Given the description of an element on the screen output the (x, y) to click on. 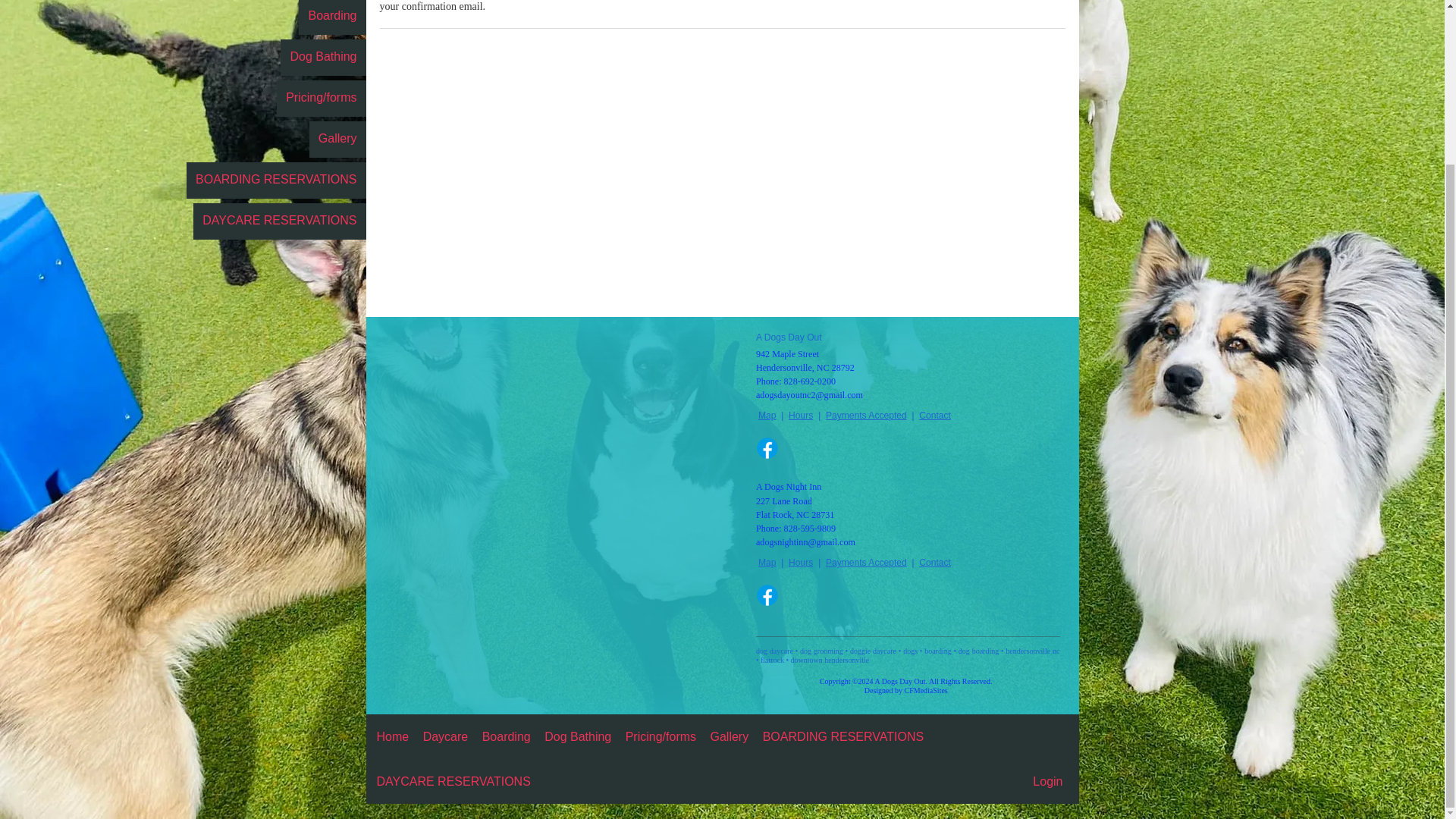
Gallery (337, 139)
Daycare (445, 736)
Dog Bathing (577, 736)
BOARDING RESERVATIONS (842, 736)
Payments Accepted (866, 415)
Map (766, 562)
Designed by CFMediaSites (905, 690)
828-595-9809 (809, 528)
DAYCARE RESERVATIONS (452, 781)
Hours (800, 415)
Boarding (331, 17)
Contact (935, 562)
DAYCARE RESERVATIONS (279, 221)
BOARDING RESERVATIONS (275, 180)
Map (766, 415)
